Given the description of an element on the screen output the (x, y) to click on. 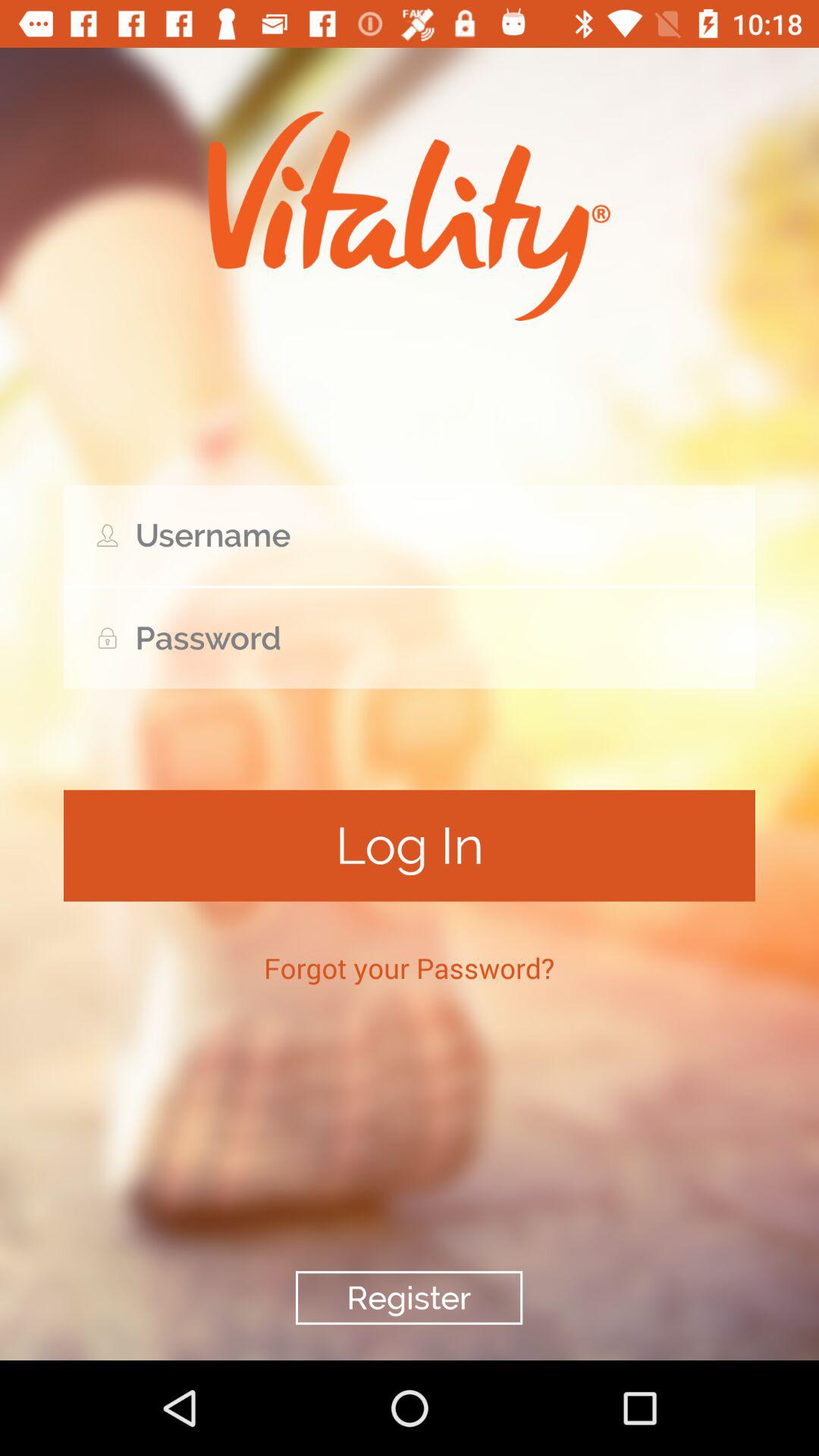
scroll to the log in item (409, 845)
